Given the description of an element on the screen output the (x, y) to click on. 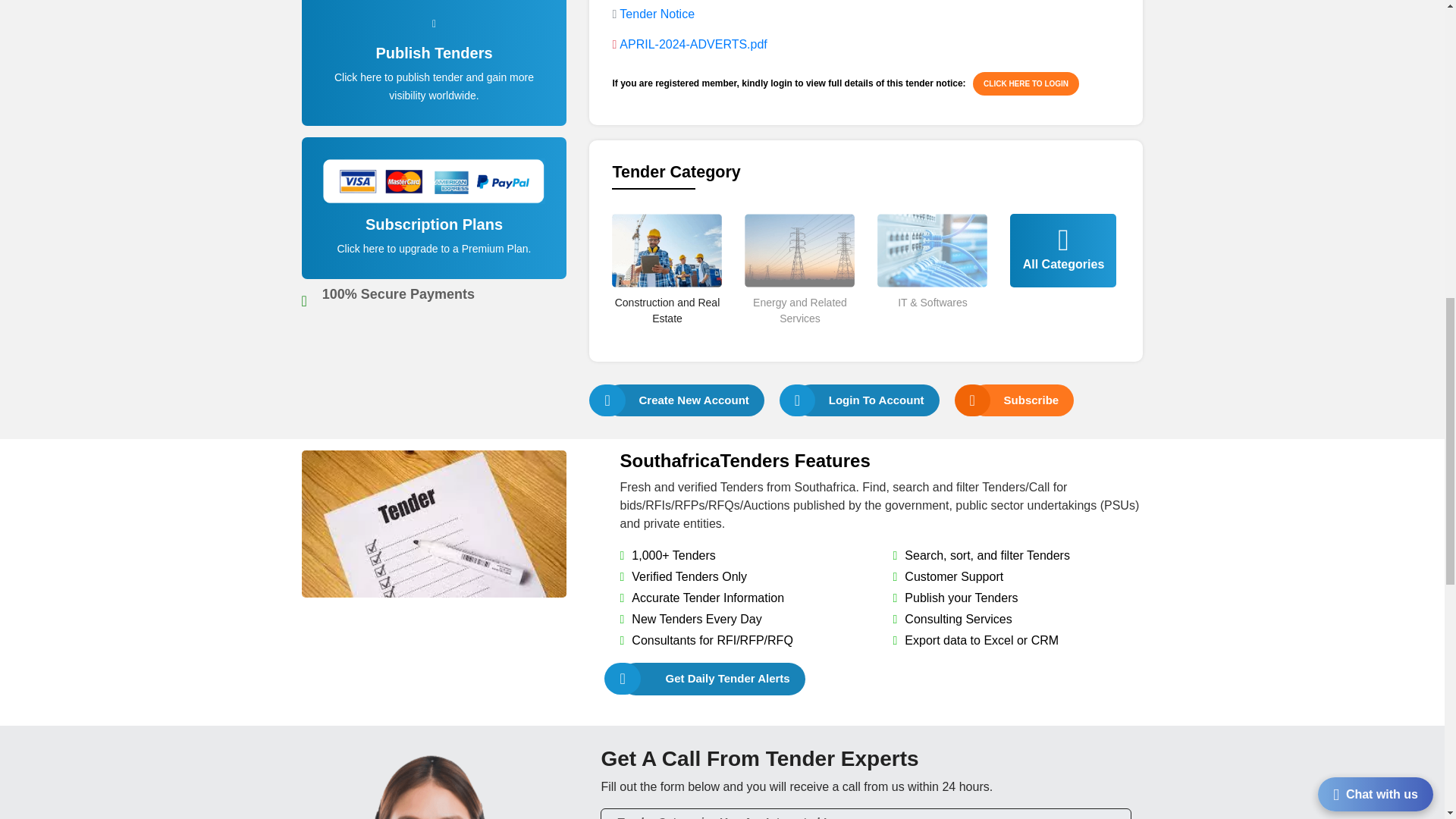
Construction and Real Estate (666, 336)
APRIL-2024-ADVERTS.pdf (693, 43)
Energy and Related Services (799, 336)
Get Daily Tender Alerts (712, 678)
Click here to upgrade to a Premium Plan. (433, 248)
All Categories (1062, 272)
CLICK HERE TO LOGIN (1025, 83)
Tender Notice (657, 13)
Subscribe (1022, 399)
